Given the description of an element on the screen output the (x, y) to click on. 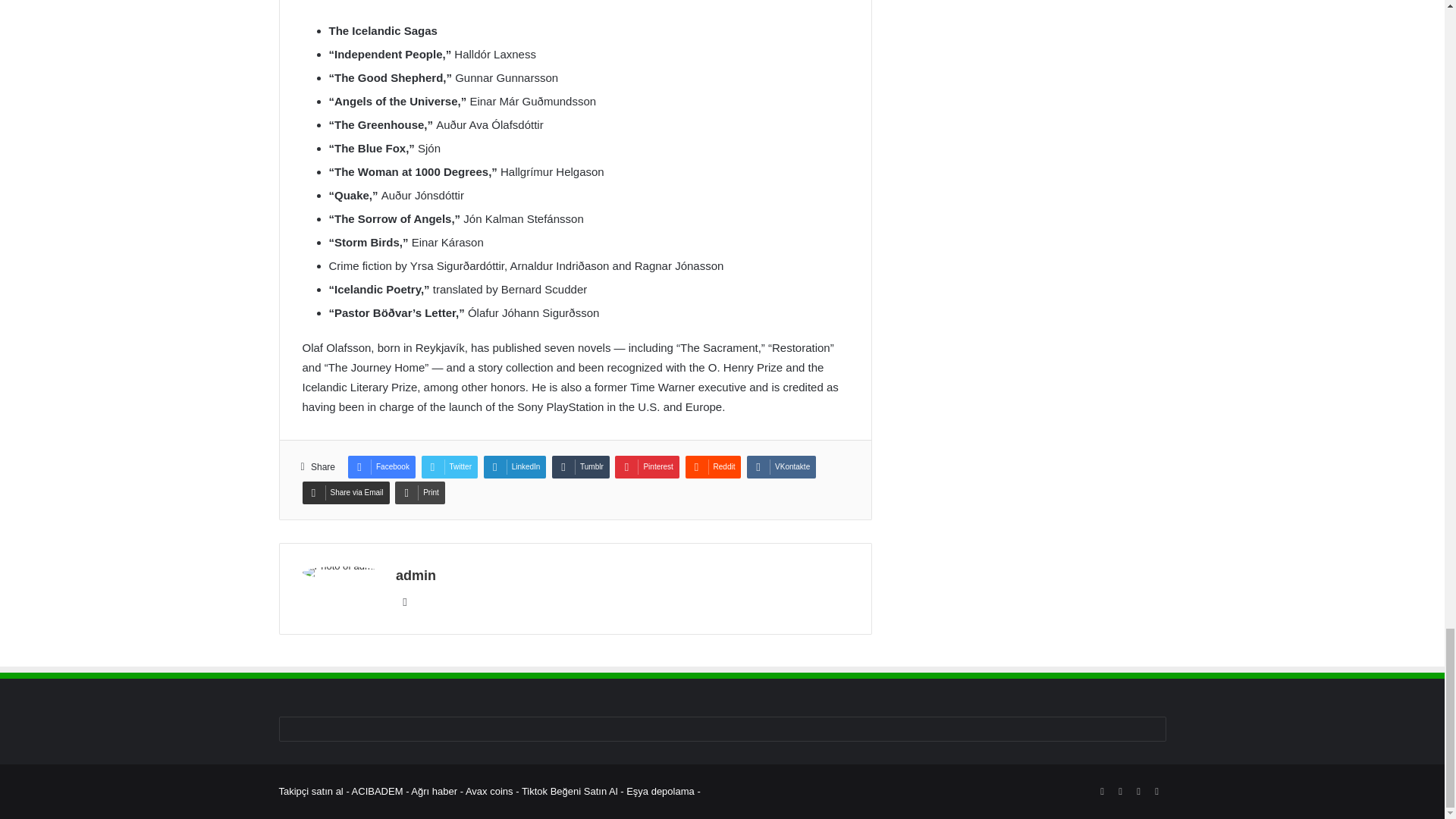
Twitter (449, 466)
Facebook (380, 466)
